Given the description of an element on the screen output the (x, y) to click on. 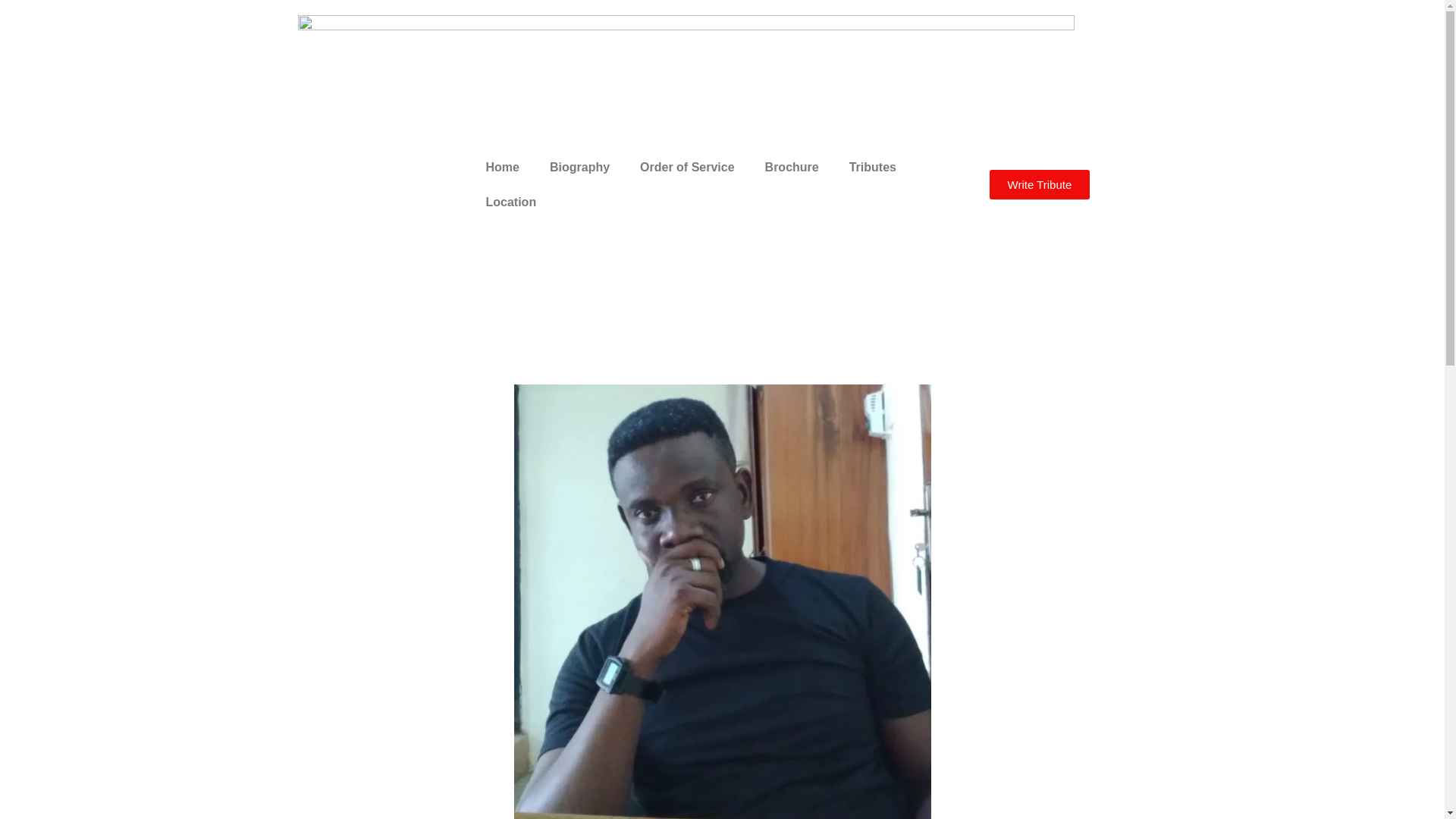
Location (510, 202)
Brochure (791, 167)
Home (502, 167)
Biography (579, 167)
Write Tribute (1038, 184)
Tributes (872, 167)
Order of Service (686, 167)
